Given the description of an element on the screen output the (x, y) to click on. 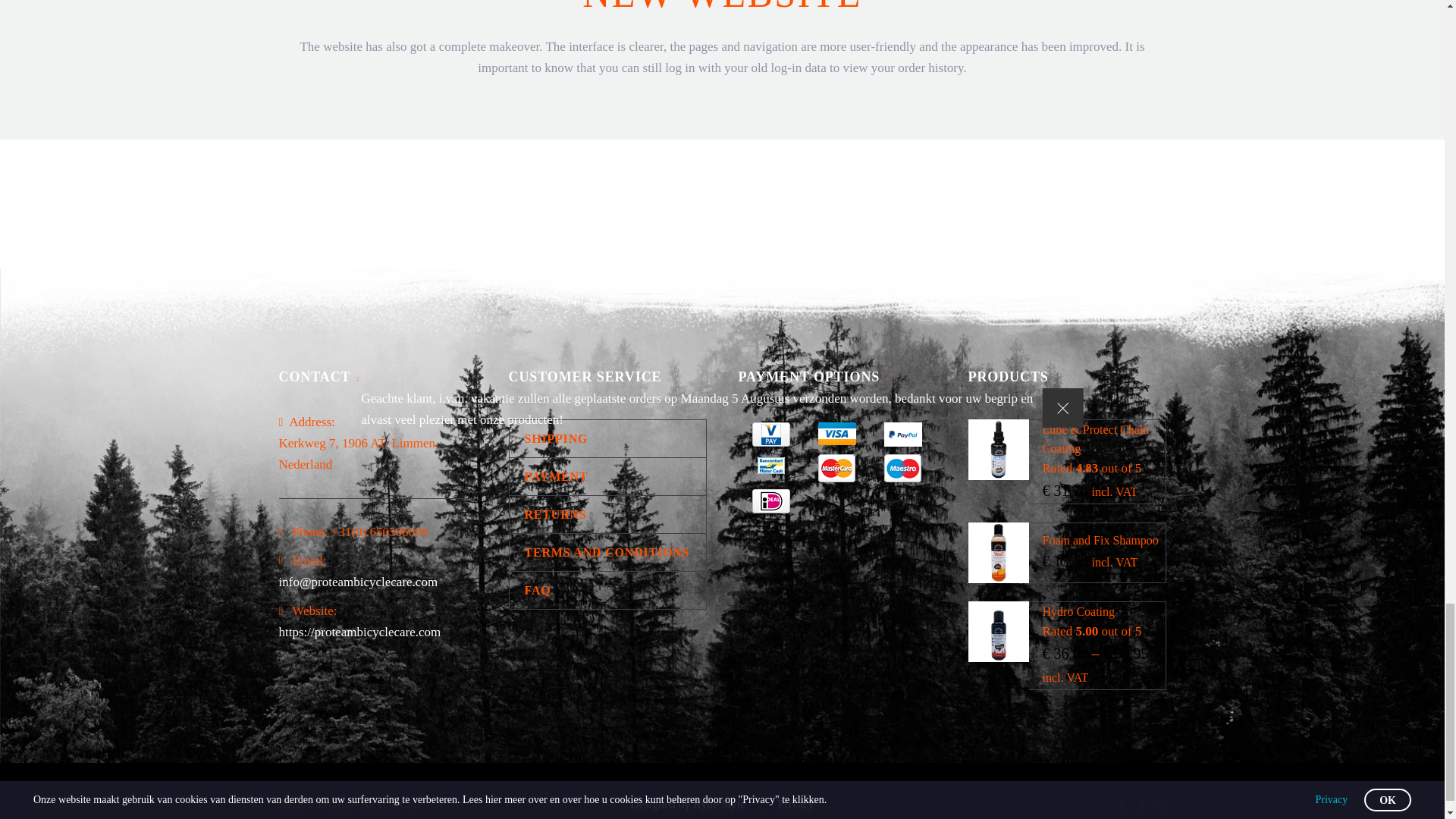
Foam and Fix Shampoo (1099, 540)
YouTube (1161, 805)
Hydro Coating (1078, 611)
Instagram (1141, 805)
Facebook (1122, 805)
